Given the description of an element on the screen output the (x, y) to click on. 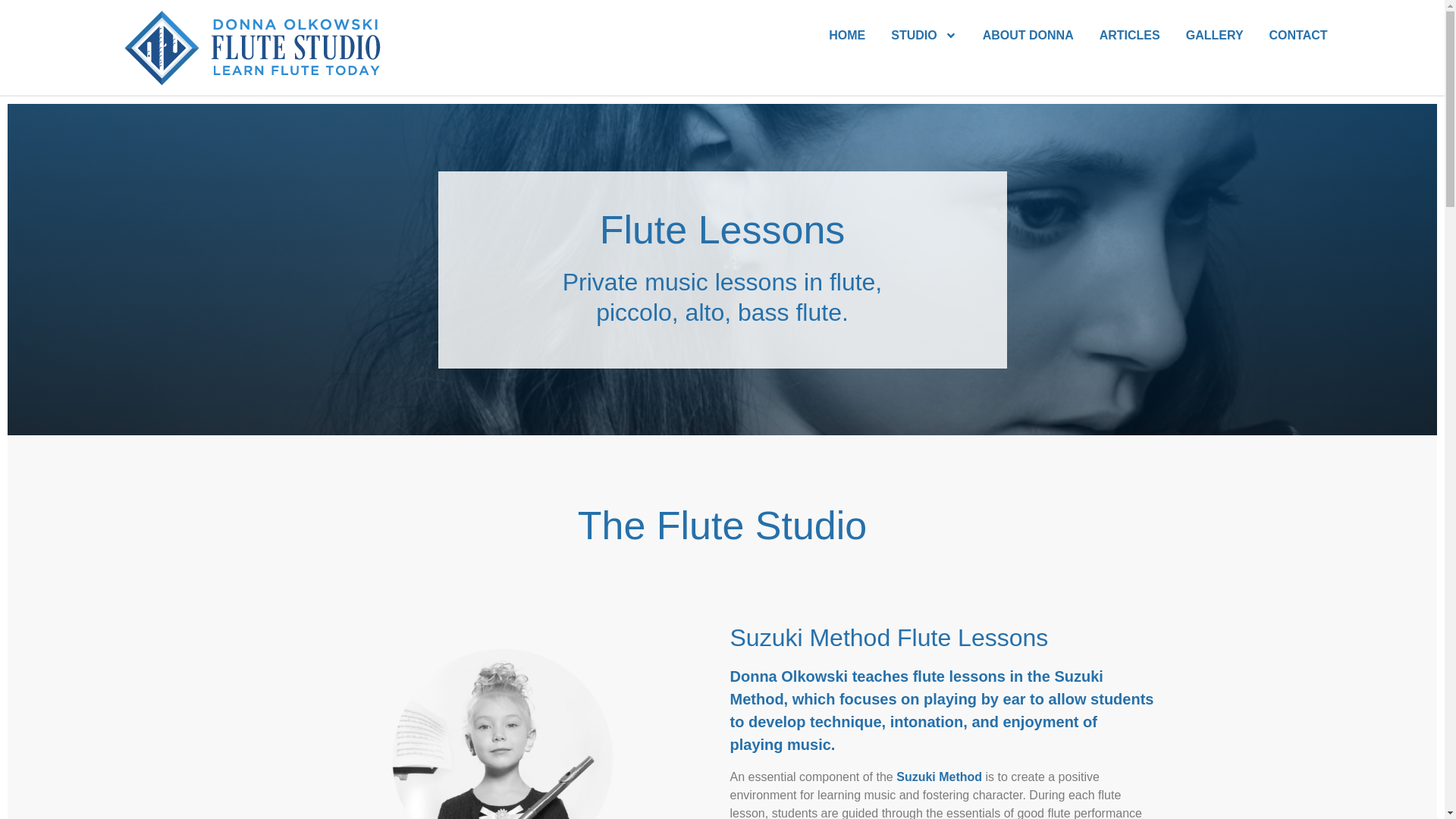
GALLERY (1214, 35)
Suzuki Method (938, 776)
CONTACT (1298, 35)
ARTICLES (1129, 35)
STUDIO (923, 35)
HOME (846, 35)
ABOUT DONNA (1028, 35)
